Given the description of an element on the screen output the (x, y) to click on. 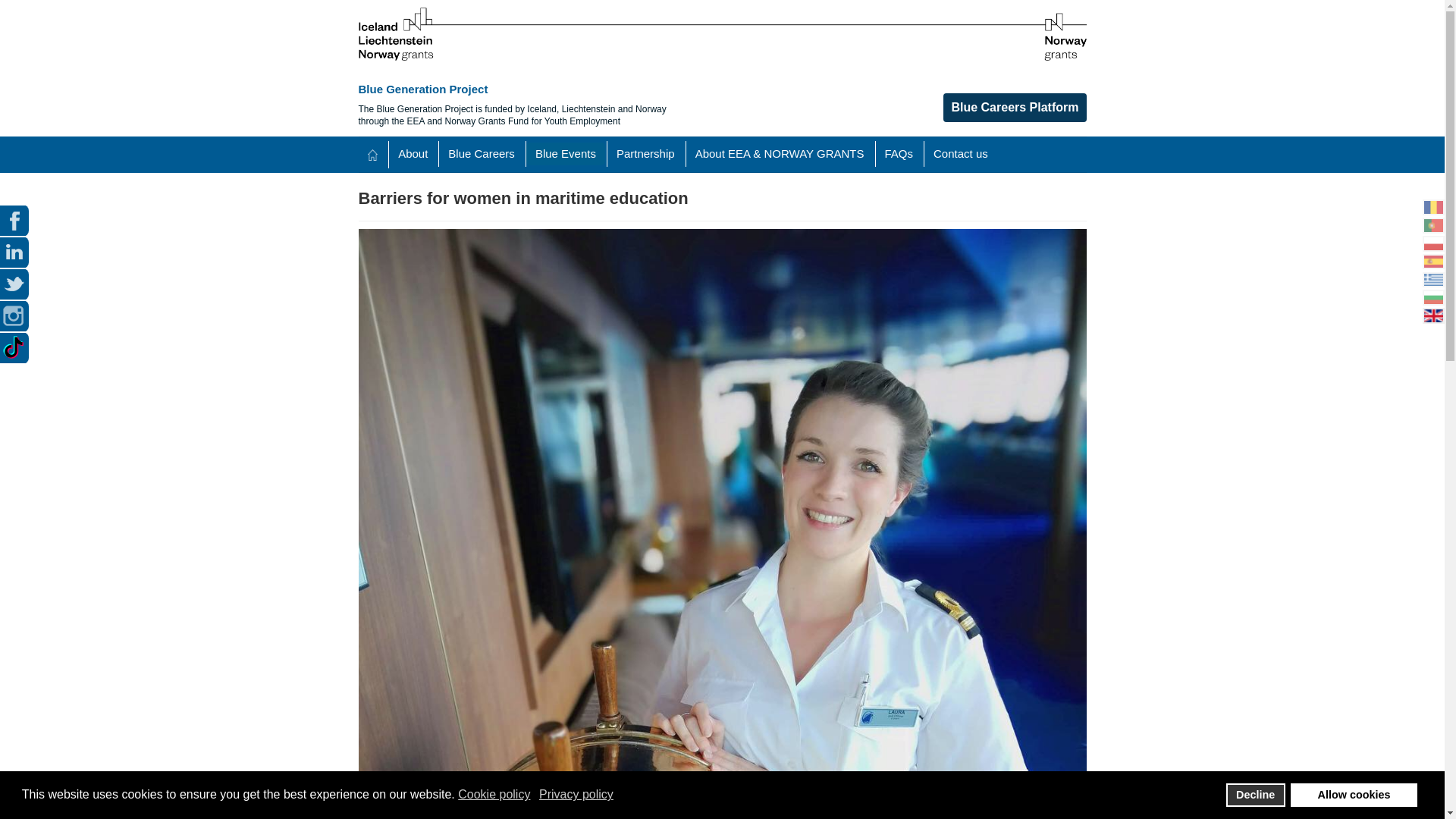
Blue Careers (481, 153)
Blue Careers Platform (1014, 107)
FAQs (898, 153)
Cookie policy (495, 794)
Decline (1255, 794)
Privacy policy (576, 794)
Blue Events (565, 153)
Partnership (645, 153)
Contact us (960, 153)
About (412, 153)
